Given the description of an element on the screen output the (x, y) to click on. 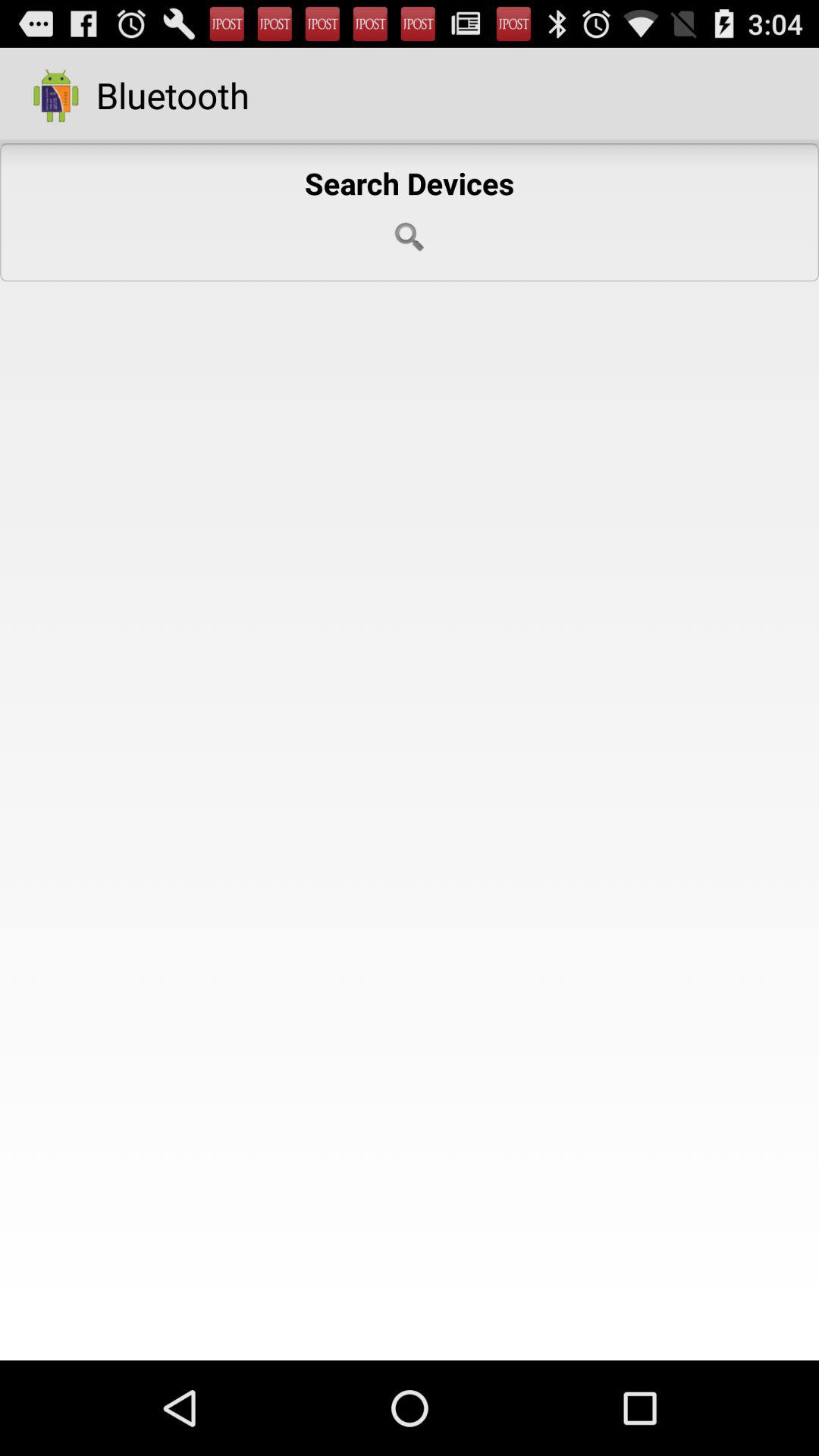
open the button at the top (409, 212)
